Given the description of an element on the screen output the (x, y) to click on. 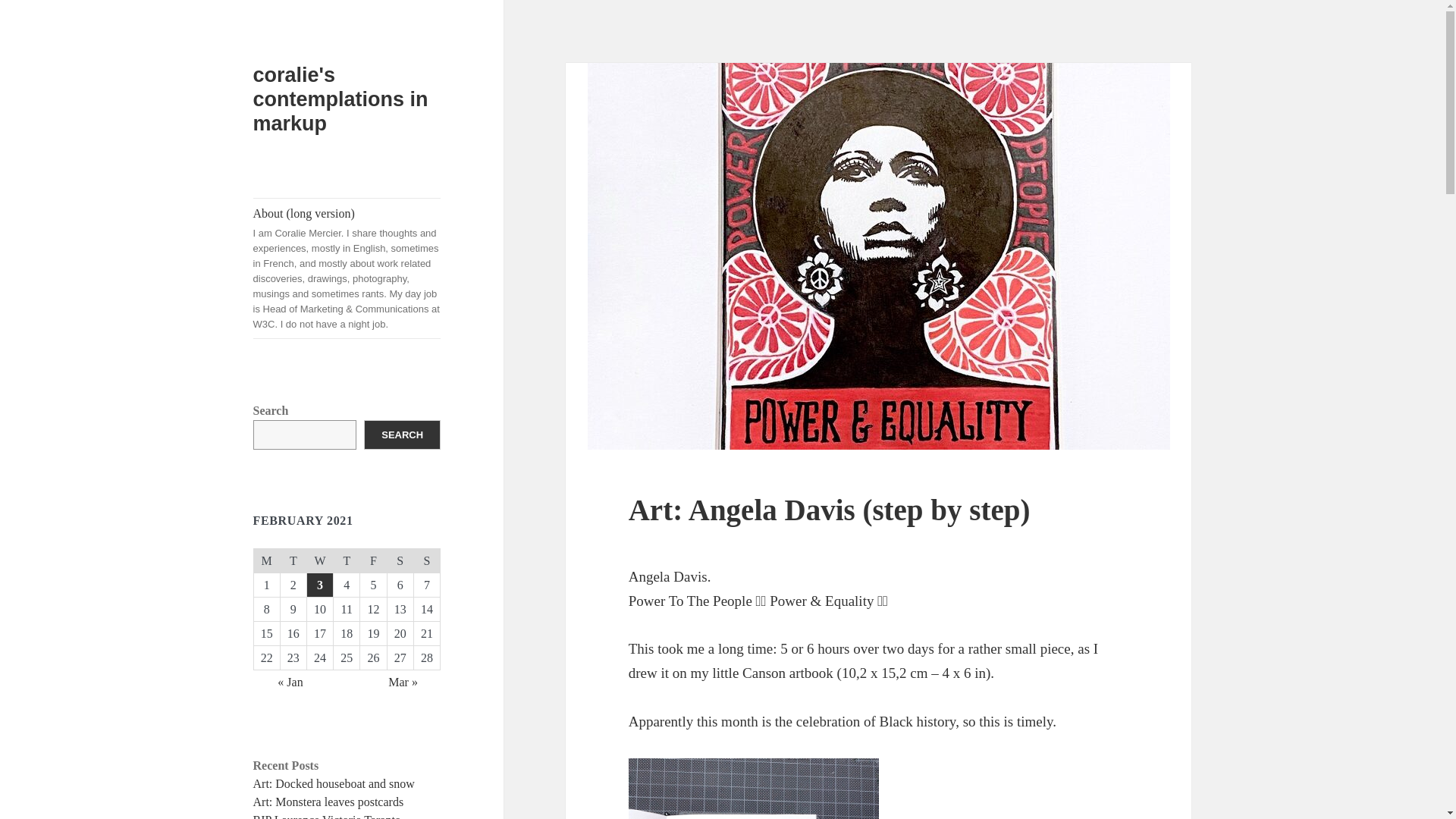
Tuesday (292, 560)
Monday (266, 560)
Friday (373, 560)
Art: Monstera leaves postcards (328, 801)
RIP Laurence Victoria Taranto Mercier (327, 816)
Sunday (426, 560)
3 (320, 585)
Art: Docked houseboat and snow (333, 783)
Saturday (400, 560)
Wednesday (319, 560)
